Given the description of an element on the screen output the (x, y) to click on. 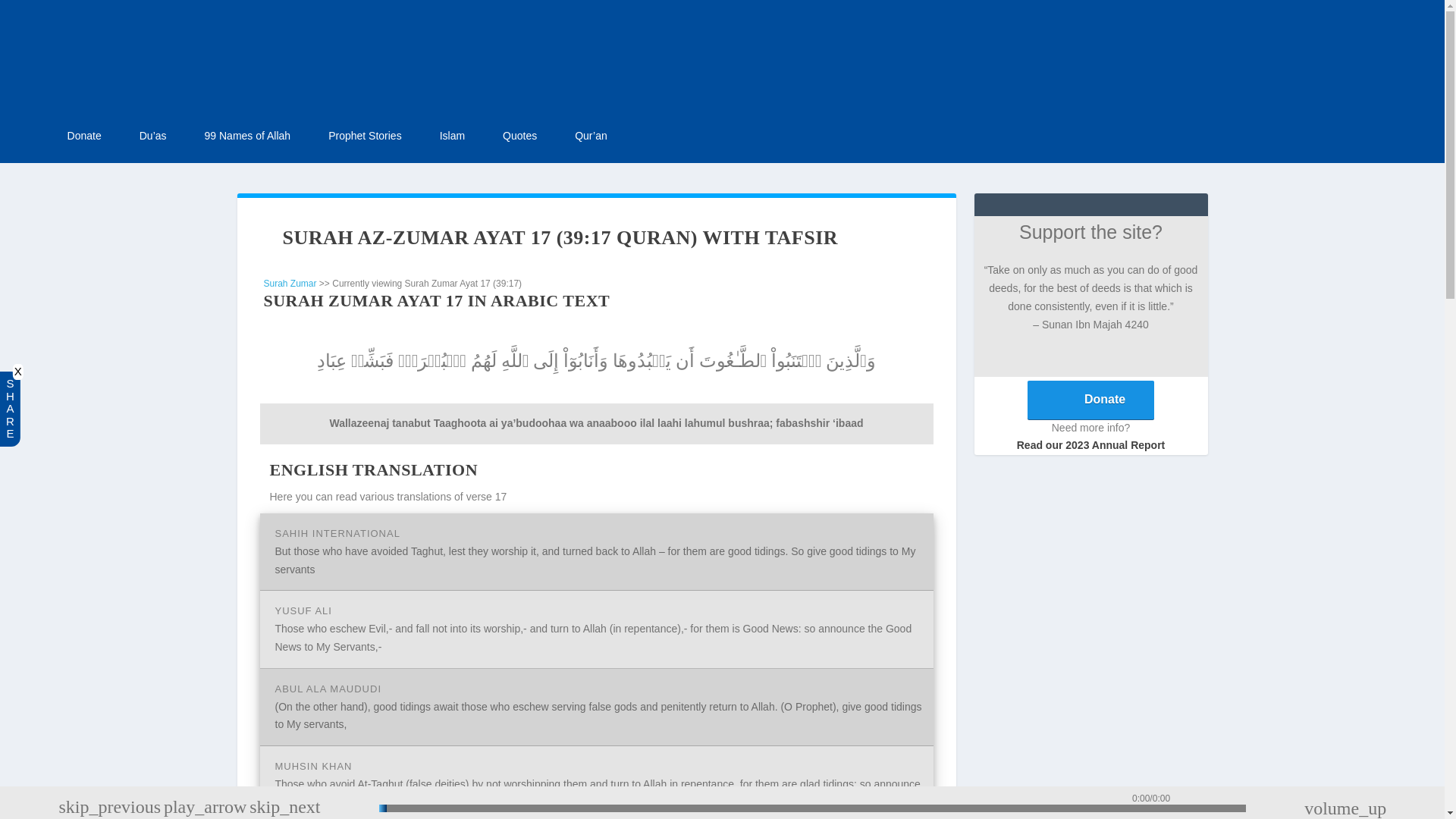
Prophet Stories (365, 136)
Islam (451, 136)
Donate (83, 136)
Quotes (519, 136)
Surah Zumar (290, 283)
99 Names of Allah (248, 136)
